Given the description of an element on the screen output the (x, y) to click on. 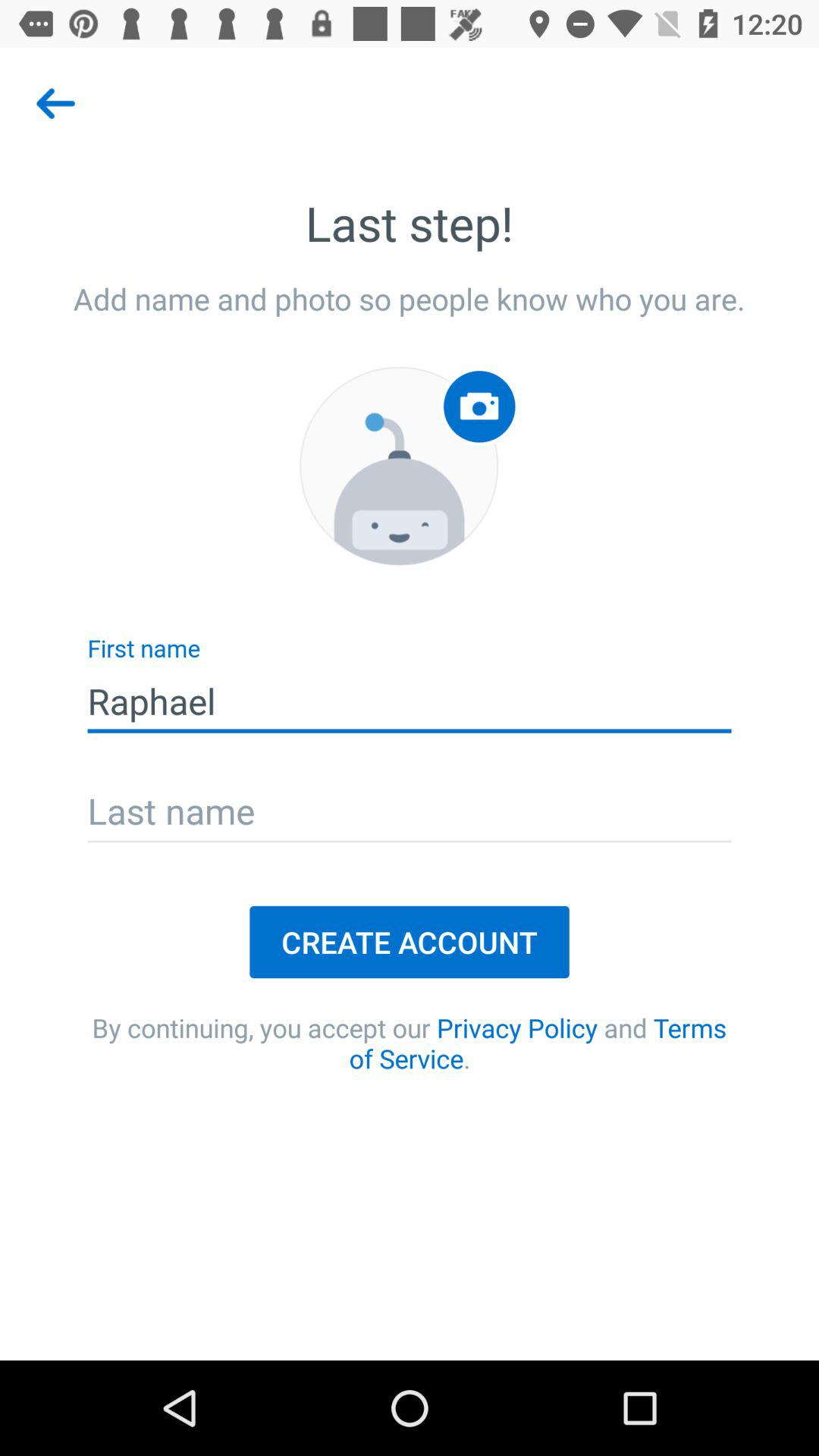
tap the icon above create account item (409, 813)
